Given the description of an element on the screen output the (x, y) to click on. 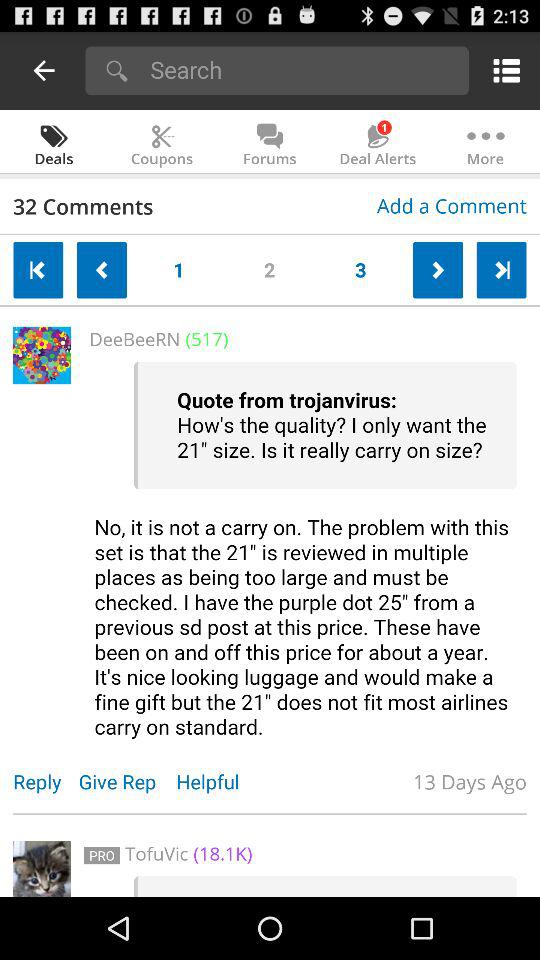
go back to first on list (38, 270)
